Given the description of an element on the screen output the (x, y) to click on. 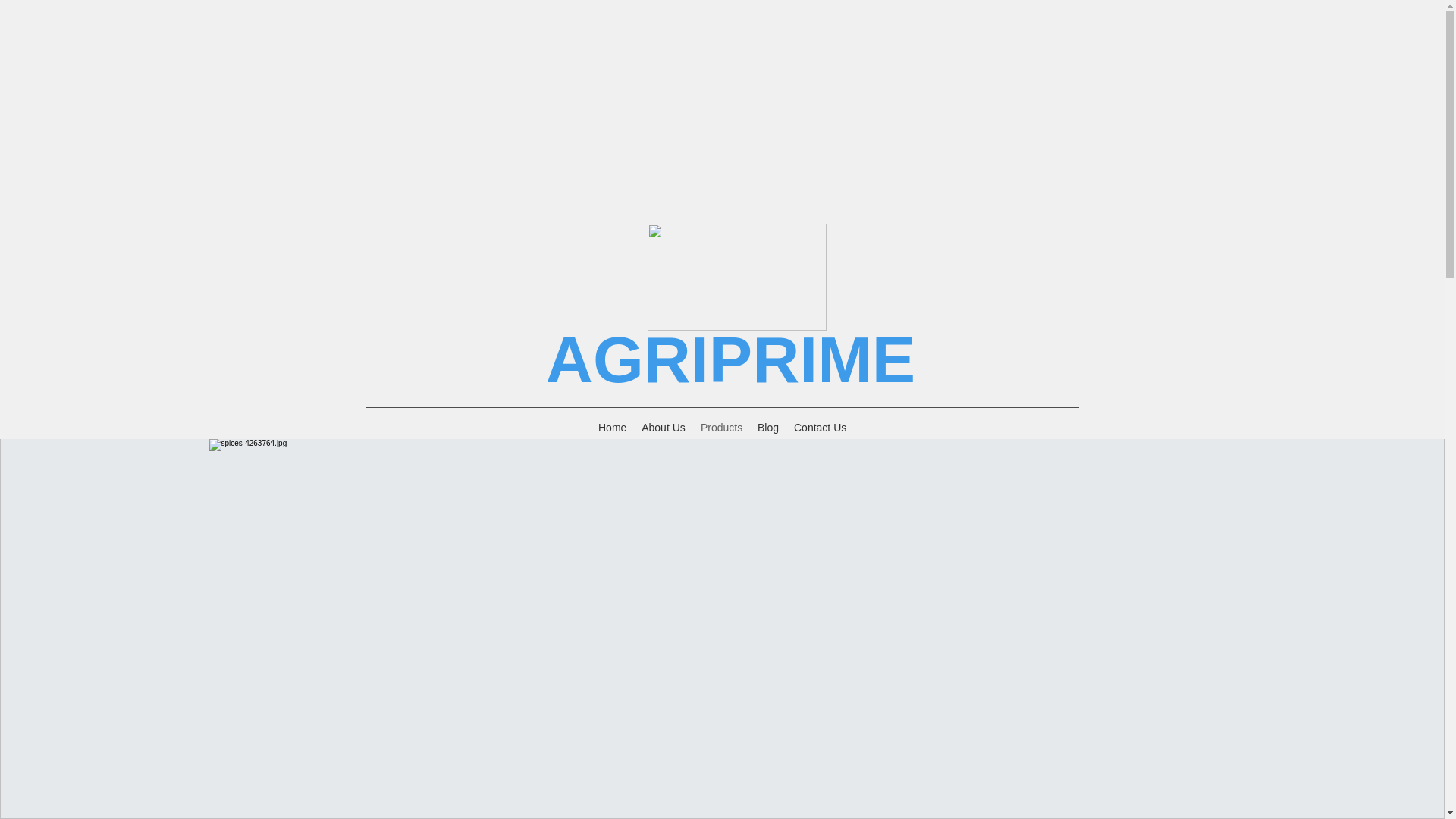
Home (612, 427)
Blog (767, 427)
Contact Us (819, 427)
About Us (663, 427)
AGRIPRIME (730, 358)
logo-icon.png (737, 276)
Products (721, 427)
